Given the description of an element on the screen output the (x, y) to click on. 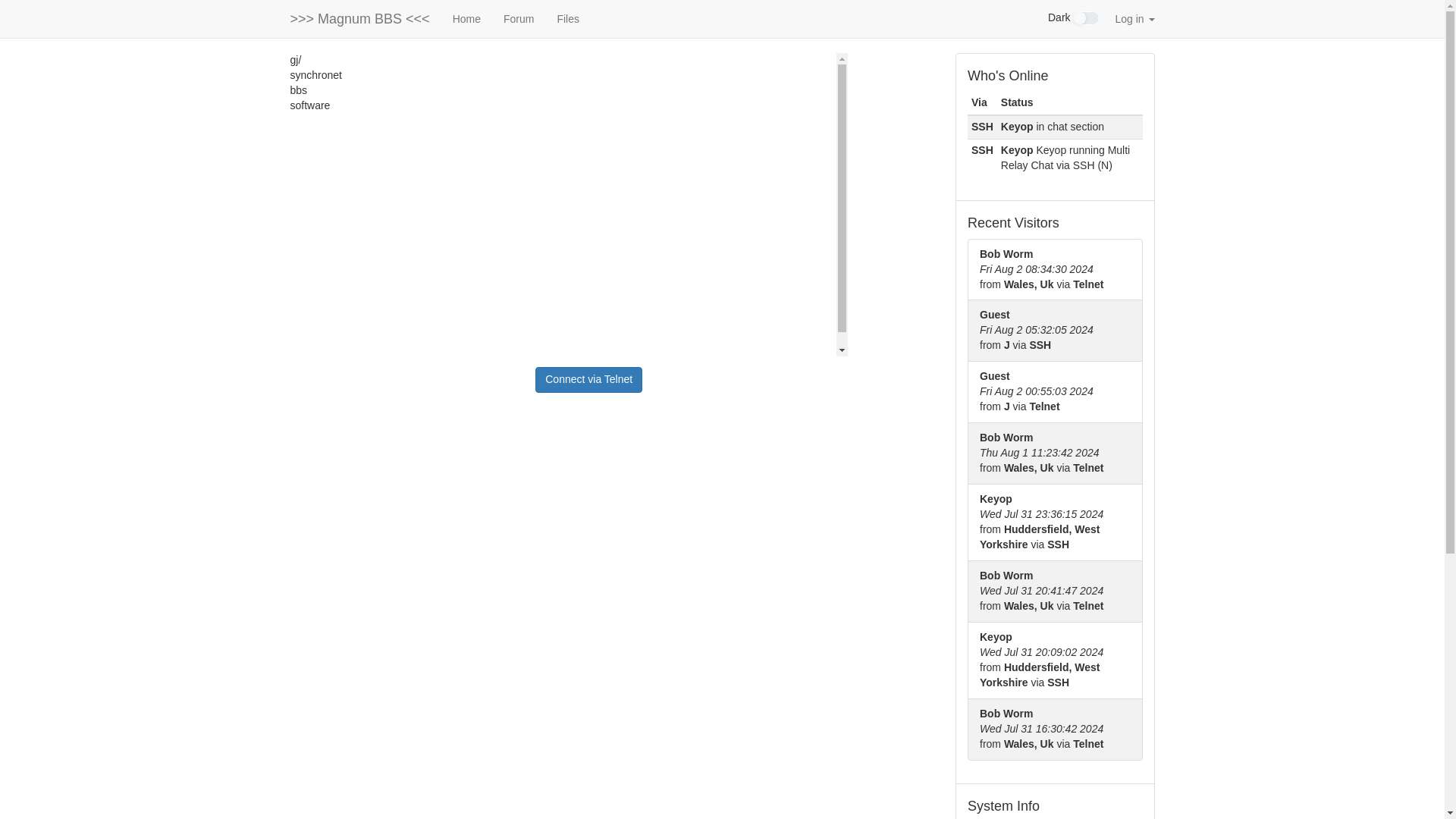
Log in (1134, 18)
Connect via Telnet (588, 379)
Files (567, 18)
Home (466, 18)
Forum (518, 18)
